Given the description of an element on the screen output the (x, y) to click on. 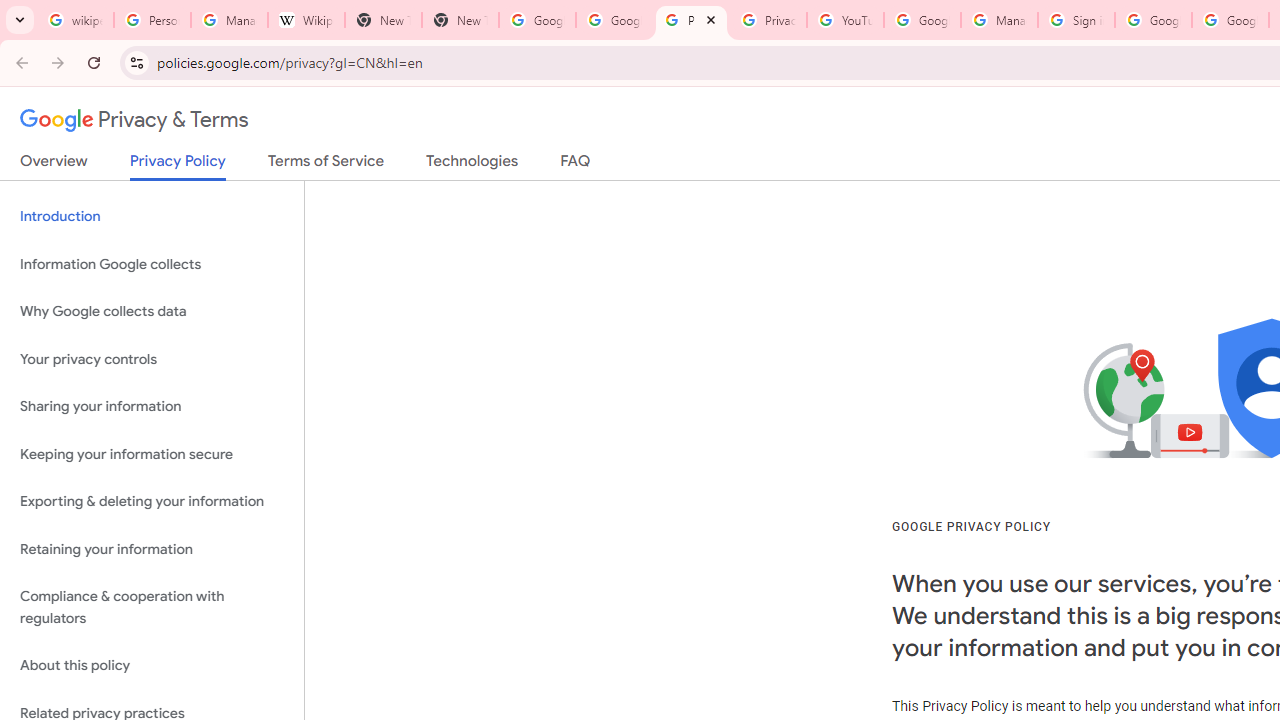
Personalization & Google Search results - Google Search Help (151, 20)
Google Drive: Sign-in (614, 20)
